Given the description of an element on the screen output the (x, y) to click on. 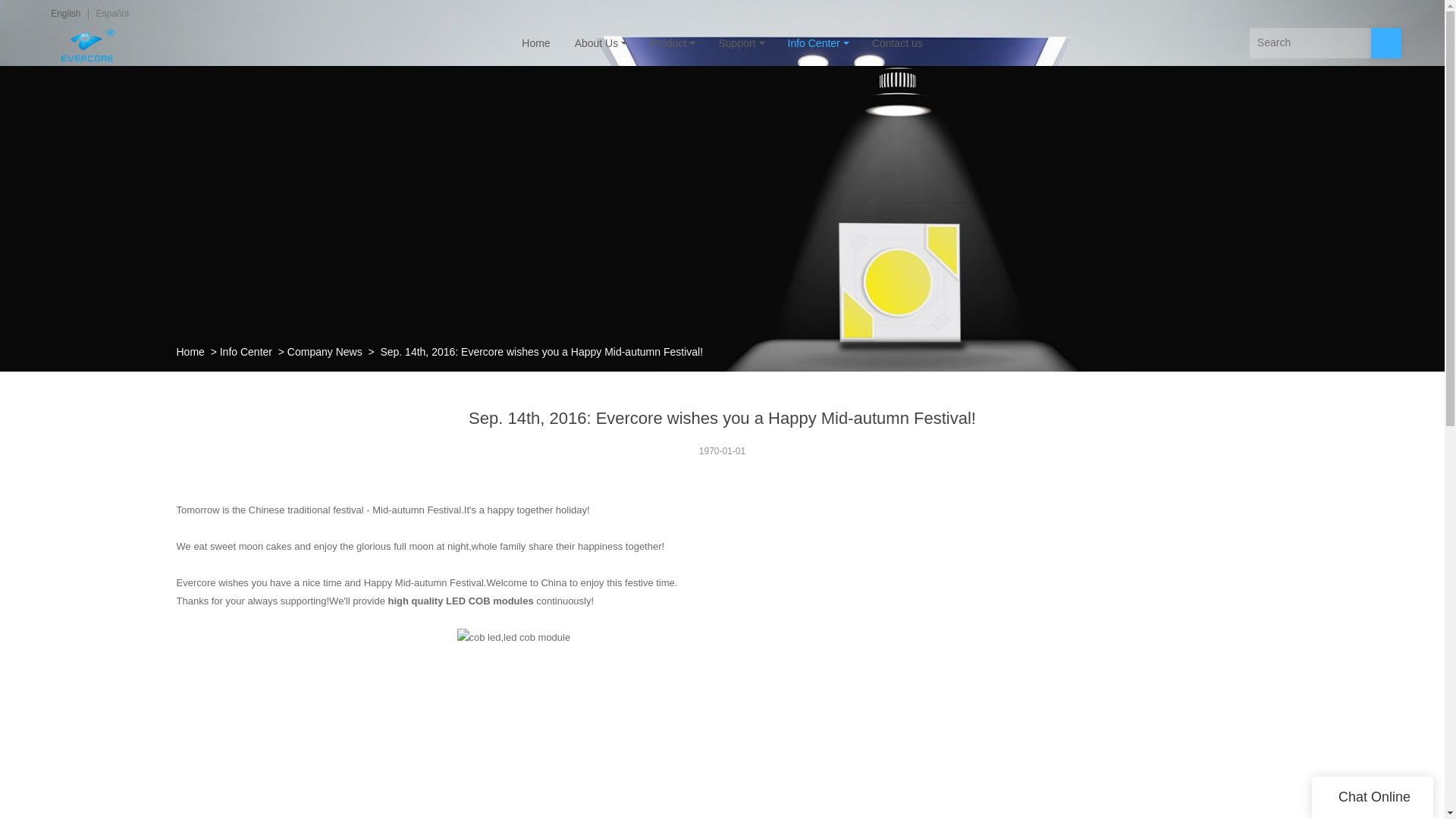
Info Center (245, 351)
Home (189, 351)
About Us (600, 42)
Info Center (818, 42)
Support (740, 42)
Product (671, 42)
Home (535, 42)
Contact us (897, 42)
cob led,led cob module (722, 723)
English (65, 13)
